Given the description of an element on the screen output the (x, y) to click on. 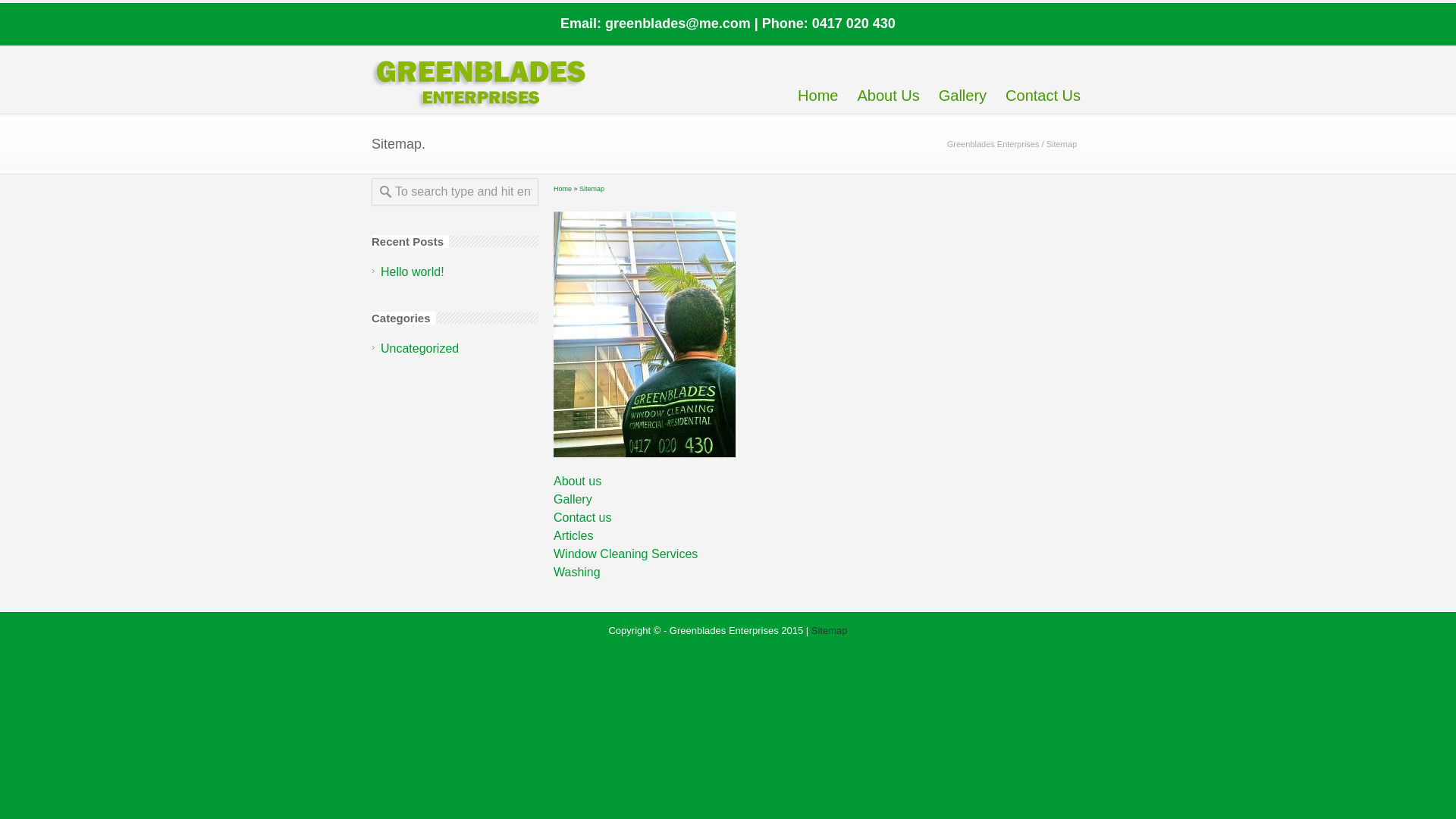
Contact Us Element type: text (1042, 78)
About Us Element type: text (887, 78)
Sitemap Element type: text (829, 630)
Home Element type: text (562, 188)
Gallery Element type: text (962, 78)
Gallery Element type: text (572, 498)
Washing Element type: text (576, 571)
Window Cleaning Services Element type: text (625, 553)
Uncategorized Element type: text (419, 348)
Greenblades Enterprises Element type: text (993, 143)
About us Element type: text (577, 480)
Contact us Element type: text (582, 517)
Hello world! Element type: text (412, 271)
Sitemap Element type: text (591, 188)
Home Element type: text (817, 78)
Articles Element type: text (573, 535)
